Given the description of an element on the screen output the (x, y) to click on. 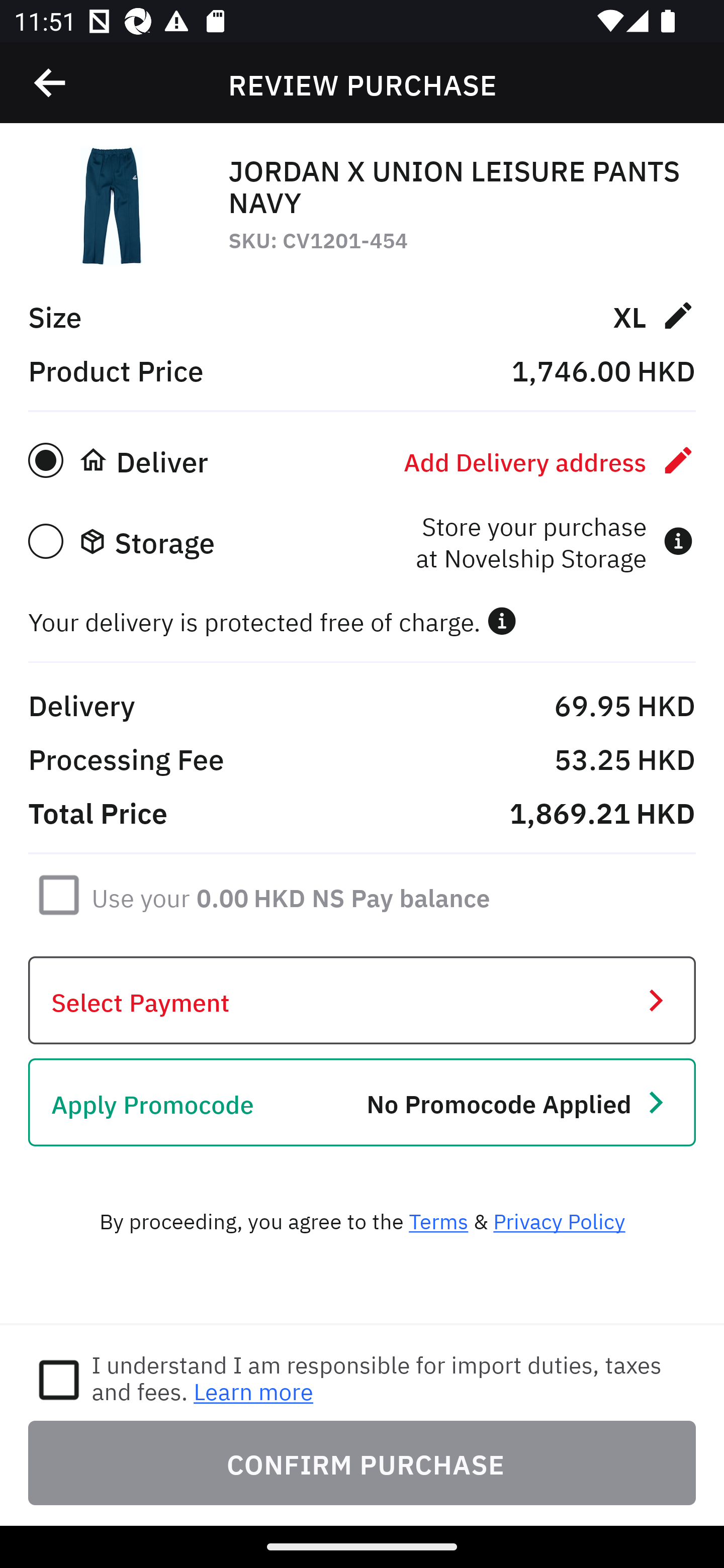
 (50, 83)
XL 󰏫 (654, 314)
󰚡 Deliver Add Delivery address 󰏫 (361, 459)
Add Delivery address 󰏫 (549, 460)
Store your purchase
at Novelship Storage  (554, 540)
 (501, 620)
Use your 0.00 HKD NS Pay balance (290, 894)
Select Payment  (361, 1000)
Apply Promocode No Promocode Applied  (361, 1102)
 CONFIRM PURCHASE (361, 1462)
